Given the description of an element on the screen output the (x, y) to click on. 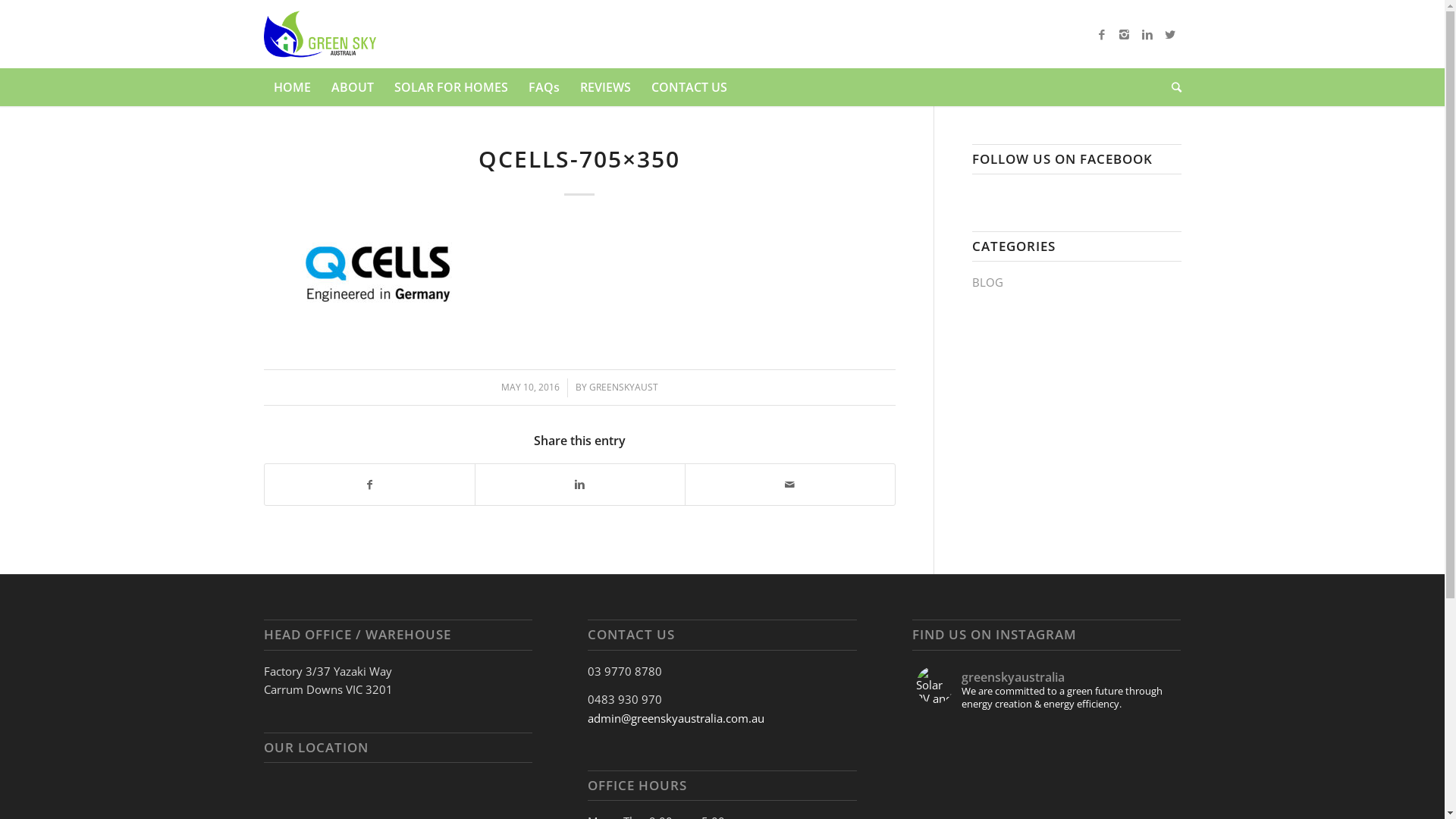
HOME Element type: text (291, 87)
SOLAR FOR HOMES Element type: text (450, 87)
REVIEWS Element type: text (604, 87)
GREENSKYAUST Element type: text (623, 386)
Facebook Element type: hover (1101, 33)
CONTACT US Element type: text (688, 87)
ABOUT Element type: text (351, 87)
Linkedin Element type: hover (1146, 33)
FAQs Element type: text (542, 87)
BLOG Element type: text (987, 281)
Instagram Element type: hover (1124, 33)
Twitter Element type: hover (1169, 33)
admin@greenskyaustralia.com.au Element type: text (675, 717)
